Given the description of an element on the screen output the (x, y) to click on. 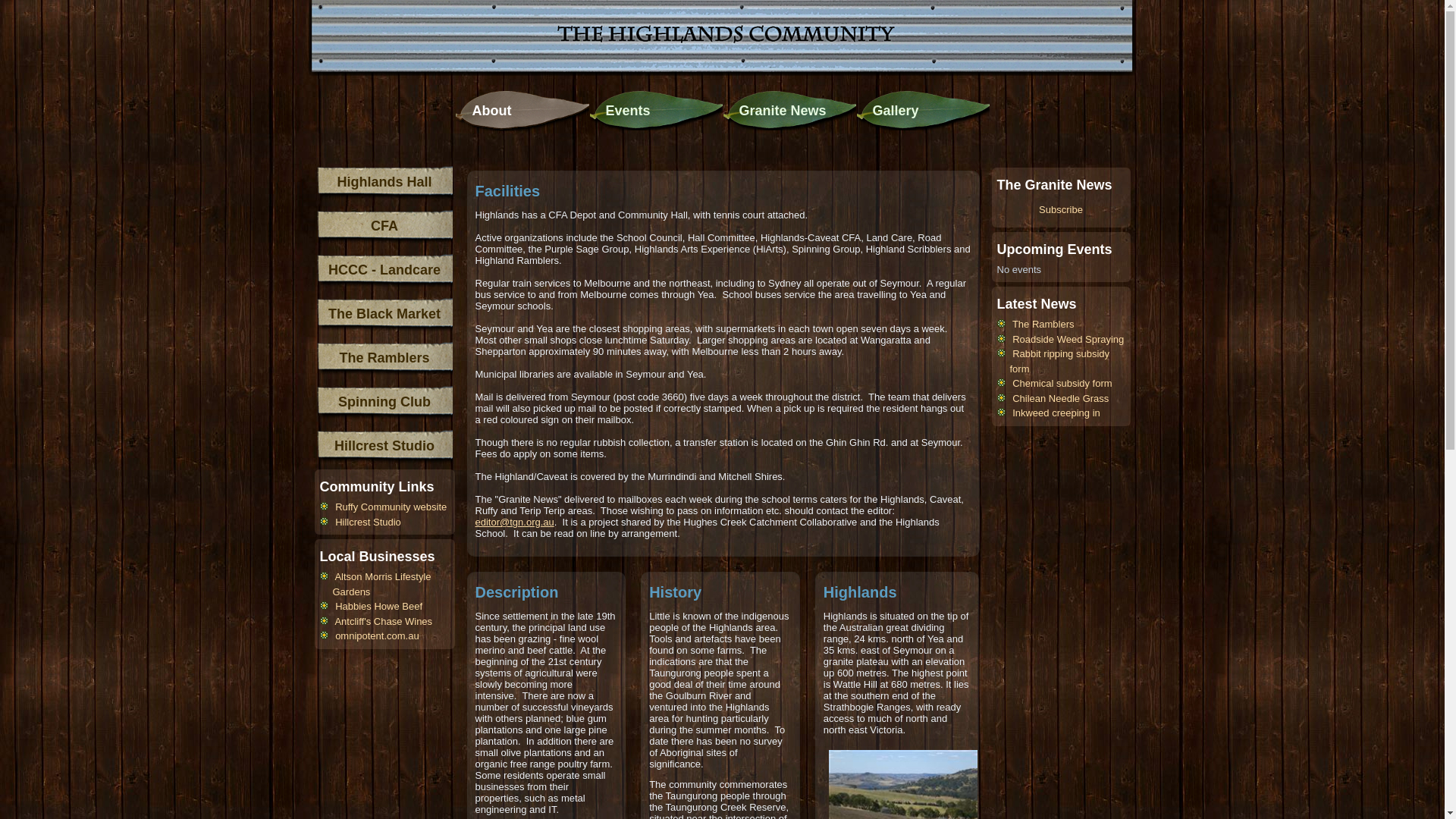
The Black Market Element type: text (384, 313)
Subscribe/Update Element type: text (1058, 347)
Inkweed creeping in Element type: text (1056, 412)
omnipotent.com.au Element type: text (377, 635)
Hillcrest Studio Element type: text (368, 521)
Subscribe Element type: text (1060, 209)
Events Element type: text (654, 111)
Hillcrest Studio Element type: text (384, 445)
The Ramblers Element type: text (1043, 323)
Gallery Element type: text (921, 111)
Altson Morris Lifestyle Gardens Element type: text (381, 584)
editor@tgn.org.au Element type: text (513, 521)
CFA Element type: text (384, 225)
Roadside Weed Spraying Element type: text (1067, 339)
Rabbit ripping subsidy form Element type: text (1060, 361)
Spinning Club Element type: text (384, 401)
Granite News Element type: text (788, 111)
Antcliff's Chase Wines Element type: text (383, 621)
Facilities Element type: text (506, 190)
Chilean Needle Grass Element type: text (1060, 398)
The Ramblers Element type: text (384, 357)
Chemical subsidy form Element type: text (1062, 383)
Highlands Hall Element type: text (384, 181)
History Element type: text (675, 591)
About Element type: text (521, 111)
Ruffy Community website Element type: text (390, 506)
Habbies Howe Beef Element type: text (378, 605)
HCCC - Landcare Element type: text (384, 269)
Highlands Element type: text (860, 591)
Description Element type: text (516, 591)
